Given the description of an element on the screen output the (x, y) to click on. 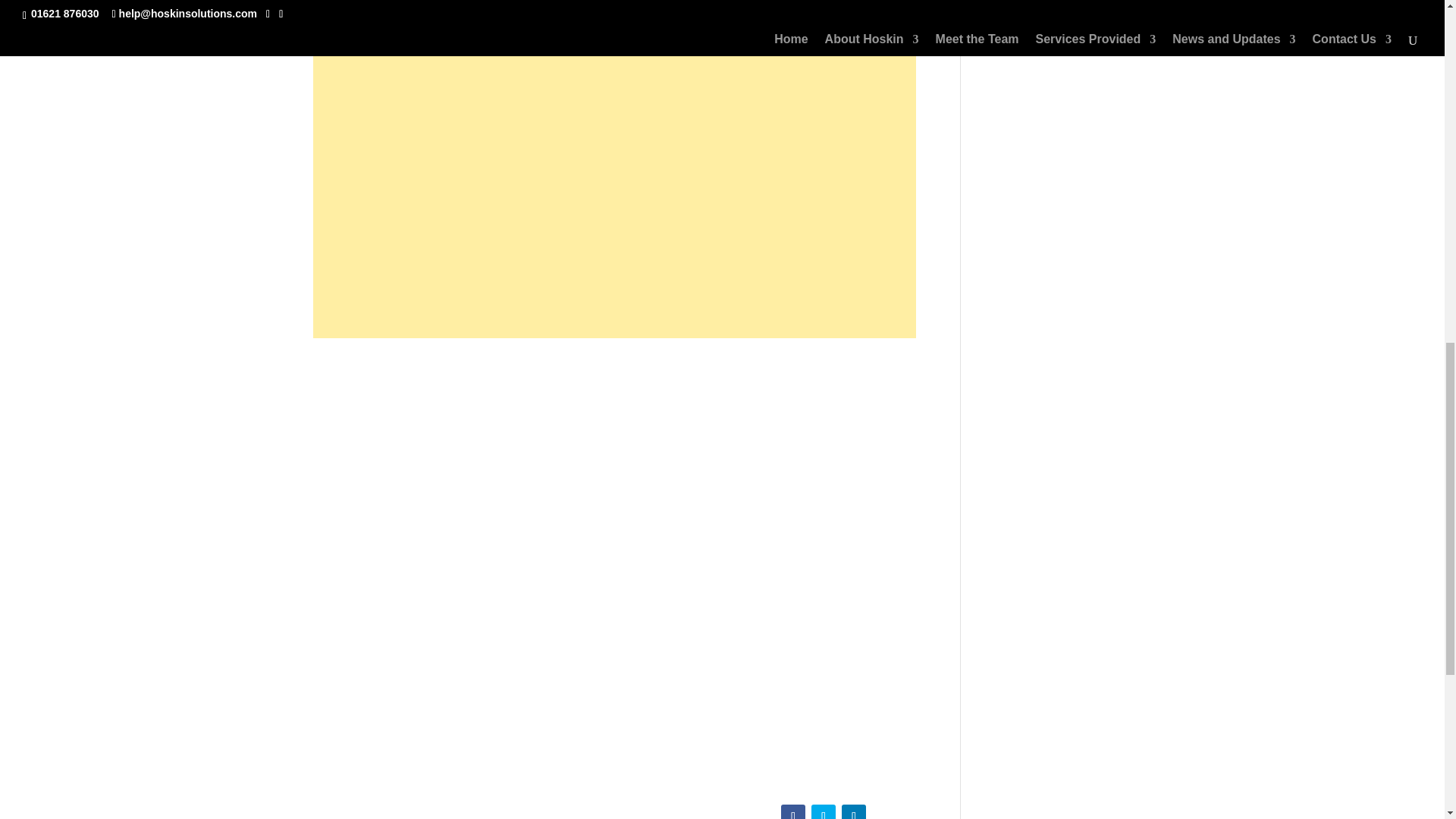
Follow on Twitter (822, 811)
Follow on LinkedIn (853, 811)
Follow on Facebook (792, 811)
